Given the description of an element on the screen output the (x, y) to click on. 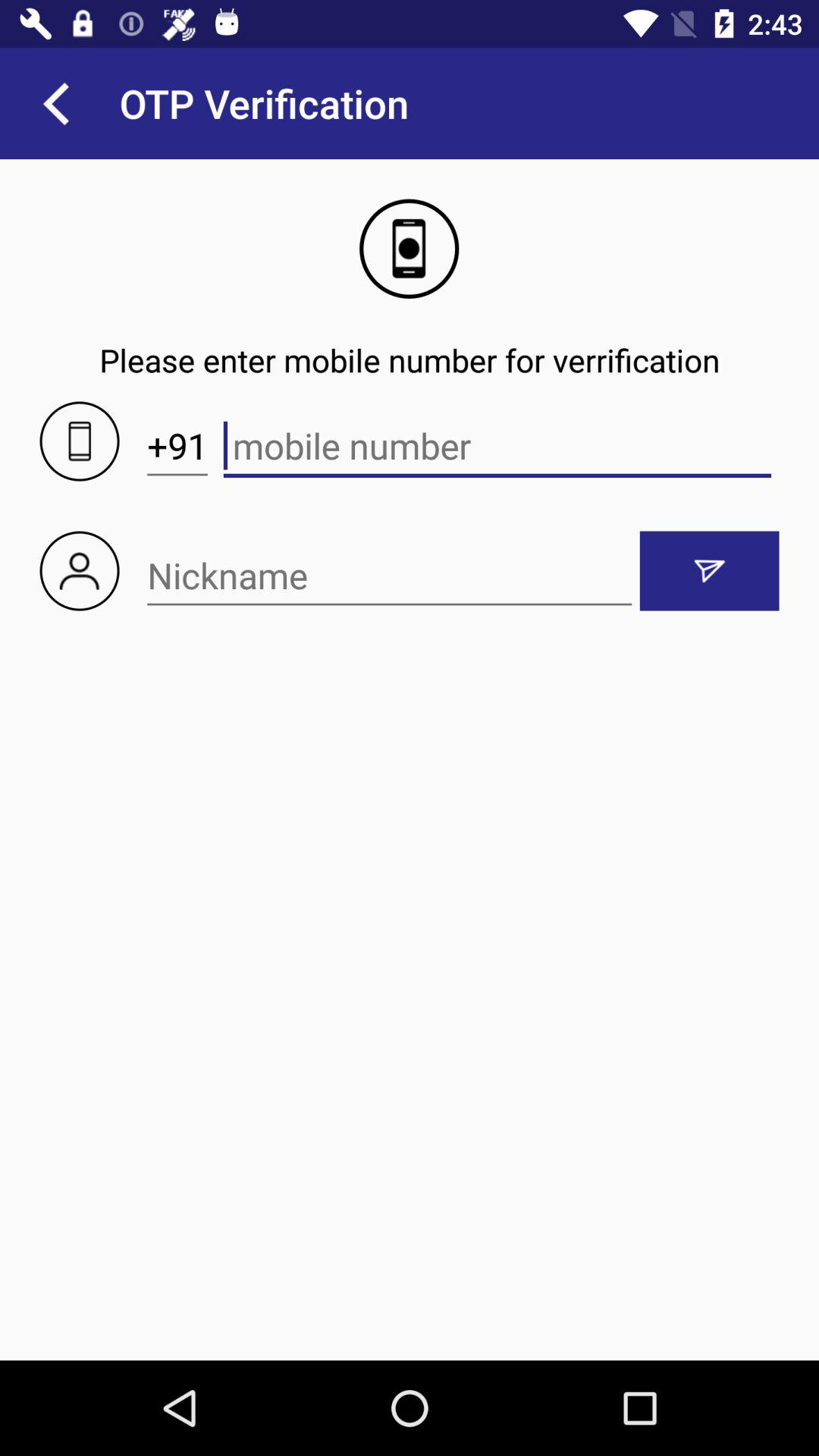
launch item below please enter mobile (177, 446)
